Given the description of an element on the screen output the (x, y) to click on. 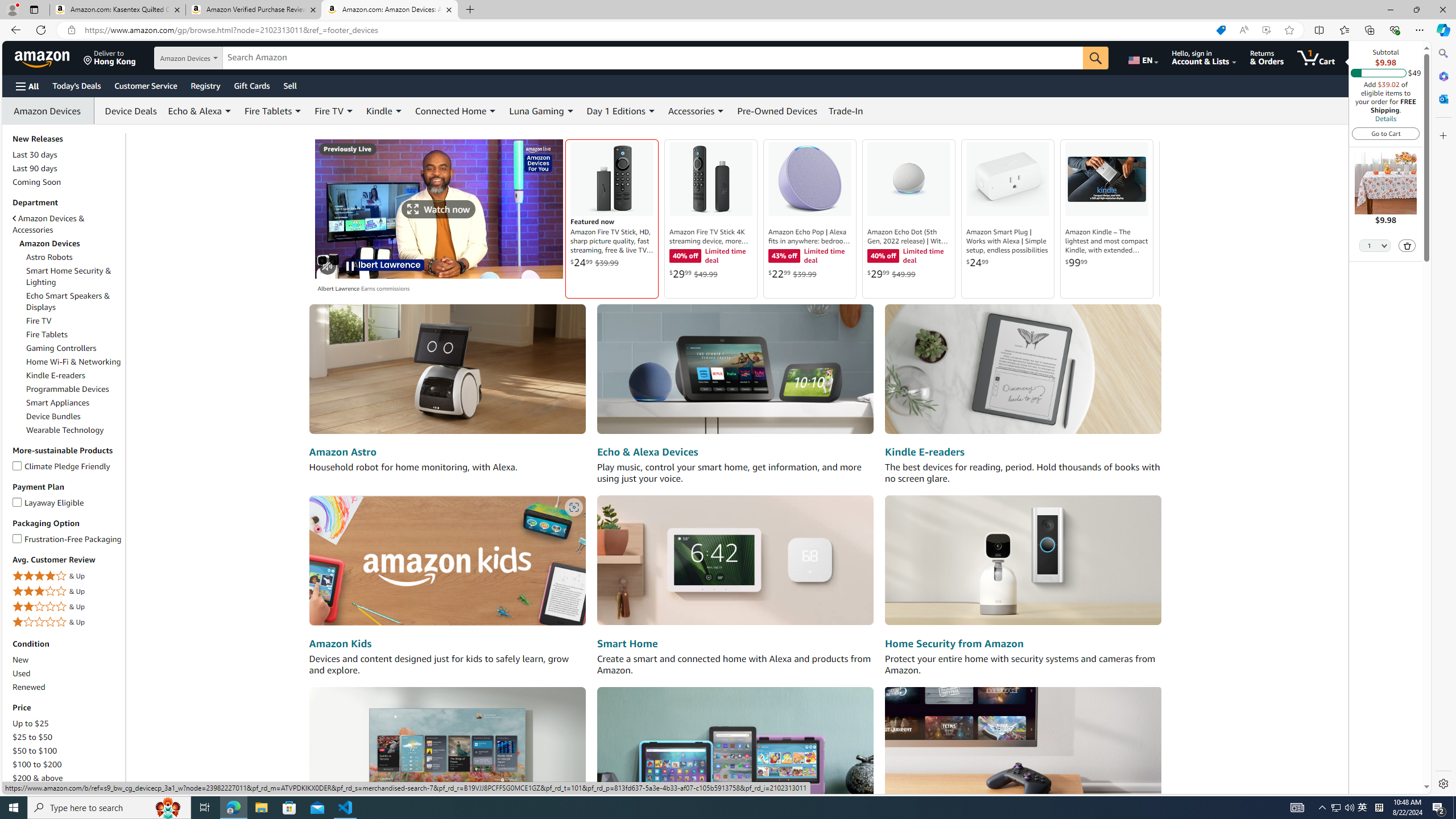
Tap Watch now to see broadcast in immersive view (438, 208)
Registry (205, 85)
Connected Home (456, 110)
Kindle (379, 110)
Returns & Orders (1266, 57)
Device Bundles (53, 416)
Smart Home (627, 643)
Search in (210, 58)
Expand Echo & Alexa (227, 111)
Amazon Devices & Accessories (48, 223)
Earns commissions (385, 288)
